Given the description of an element on the screen output the (x, y) to click on. 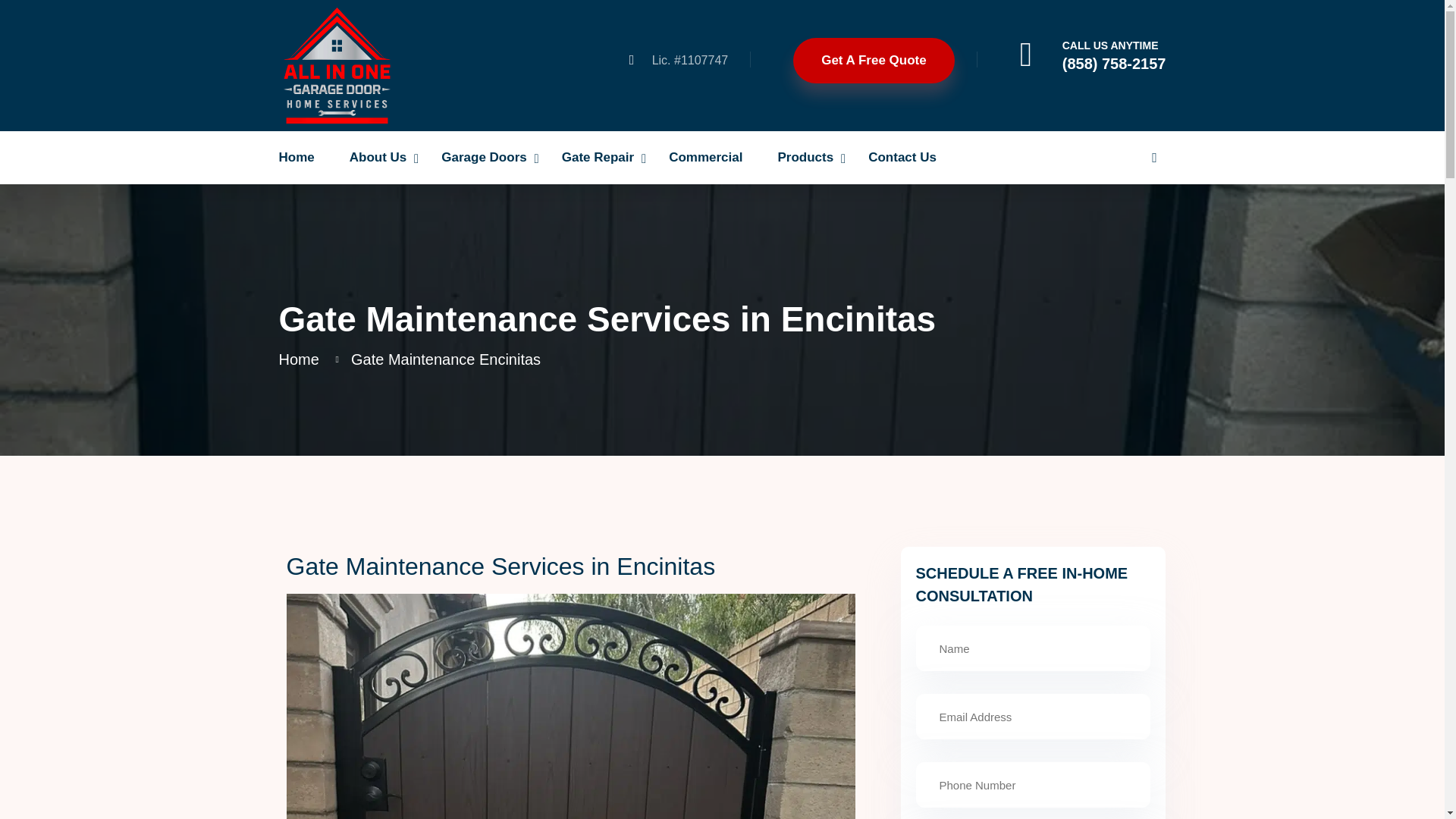
About Us (384, 157)
Products (811, 157)
Commercial (711, 157)
Gate Repair (604, 157)
Home (302, 157)
Gate Repair (604, 157)
Garage Door Repair San Diego (336, 63)
Get A Free Quote (874, 60)
Home (302, 157)
Contact Us (908, 157)
